Given the description of an element on the screen output the (x, y) to click on. 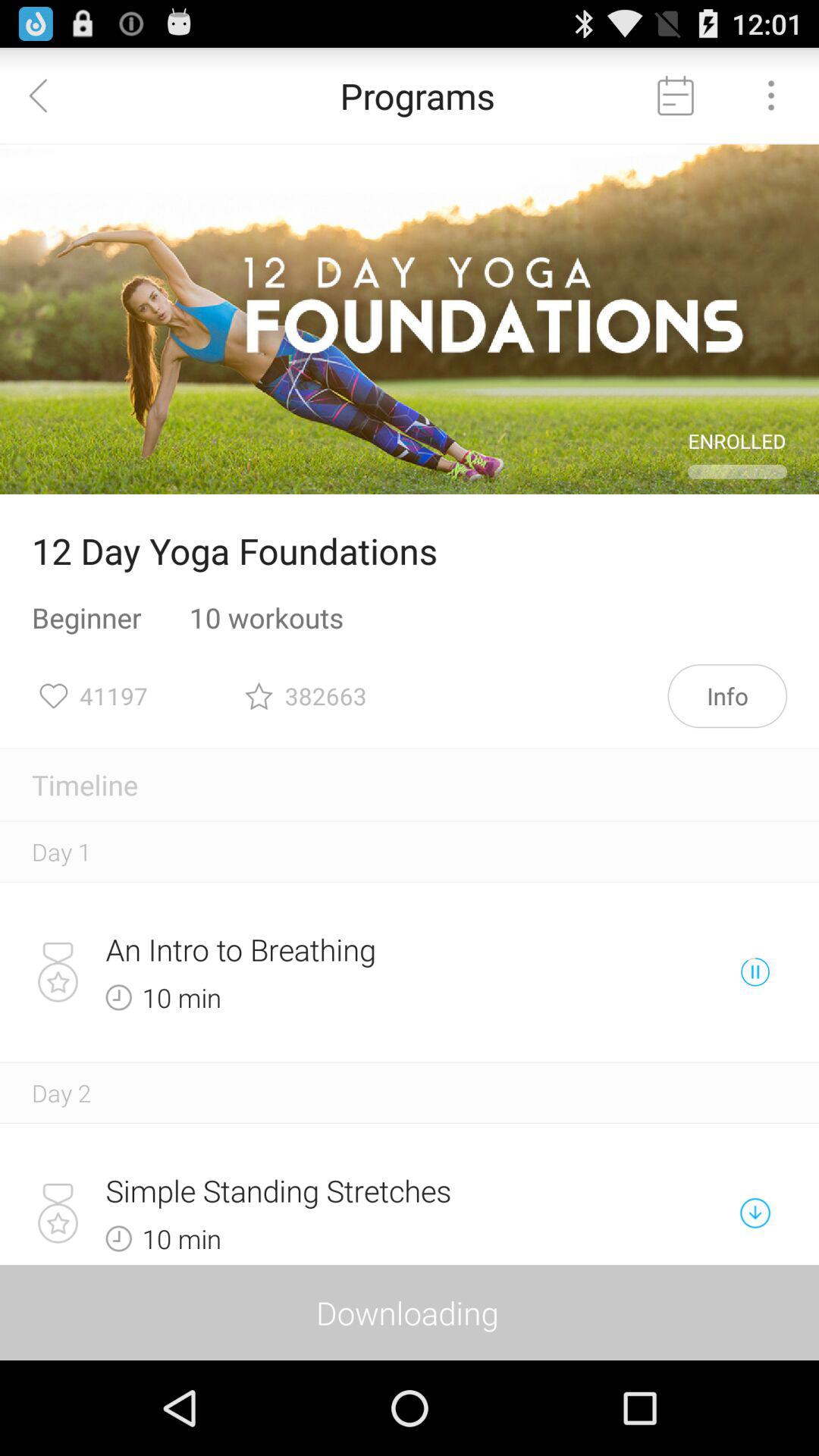
calendar (675, 95)
